Given the description of an element on the screen output the (x, y) to click on. 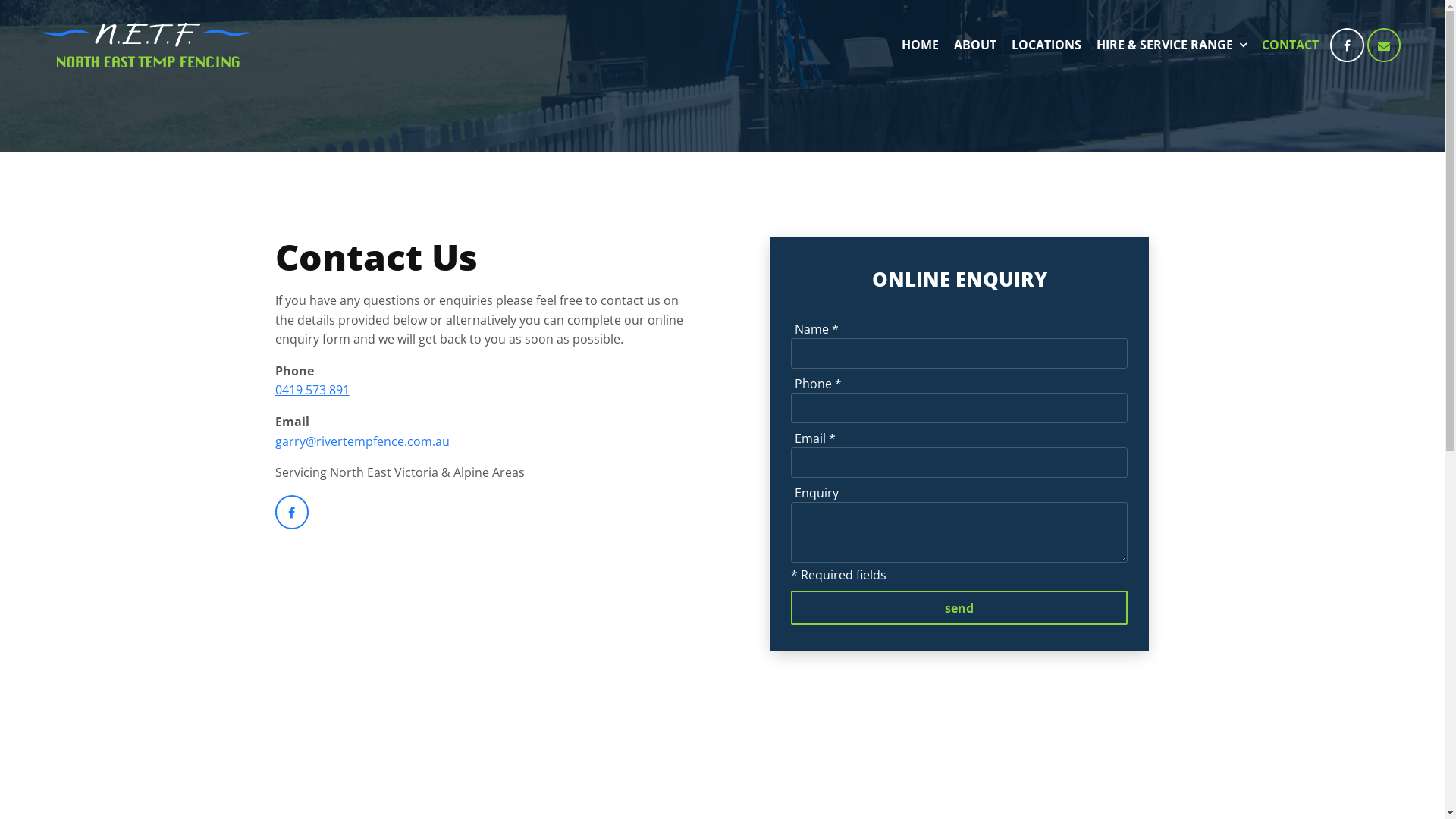
CONTACT Element type: text (1290, 45)
LOCATIONS Element type: text (1046, 45)
Send Element type: text (958, 607)
HOME Element type: text (920, 45)
garry@rivertempfence.com.au Element type: text (361, 441)
0419 573 891 Element type: text (311, 389)
ABOUT Element type: text (975, 45)
HIRE & SERVICE RANGE Element type: text (1171, 45)
